Given the description of an element on the screen output the (x, y) to click on. 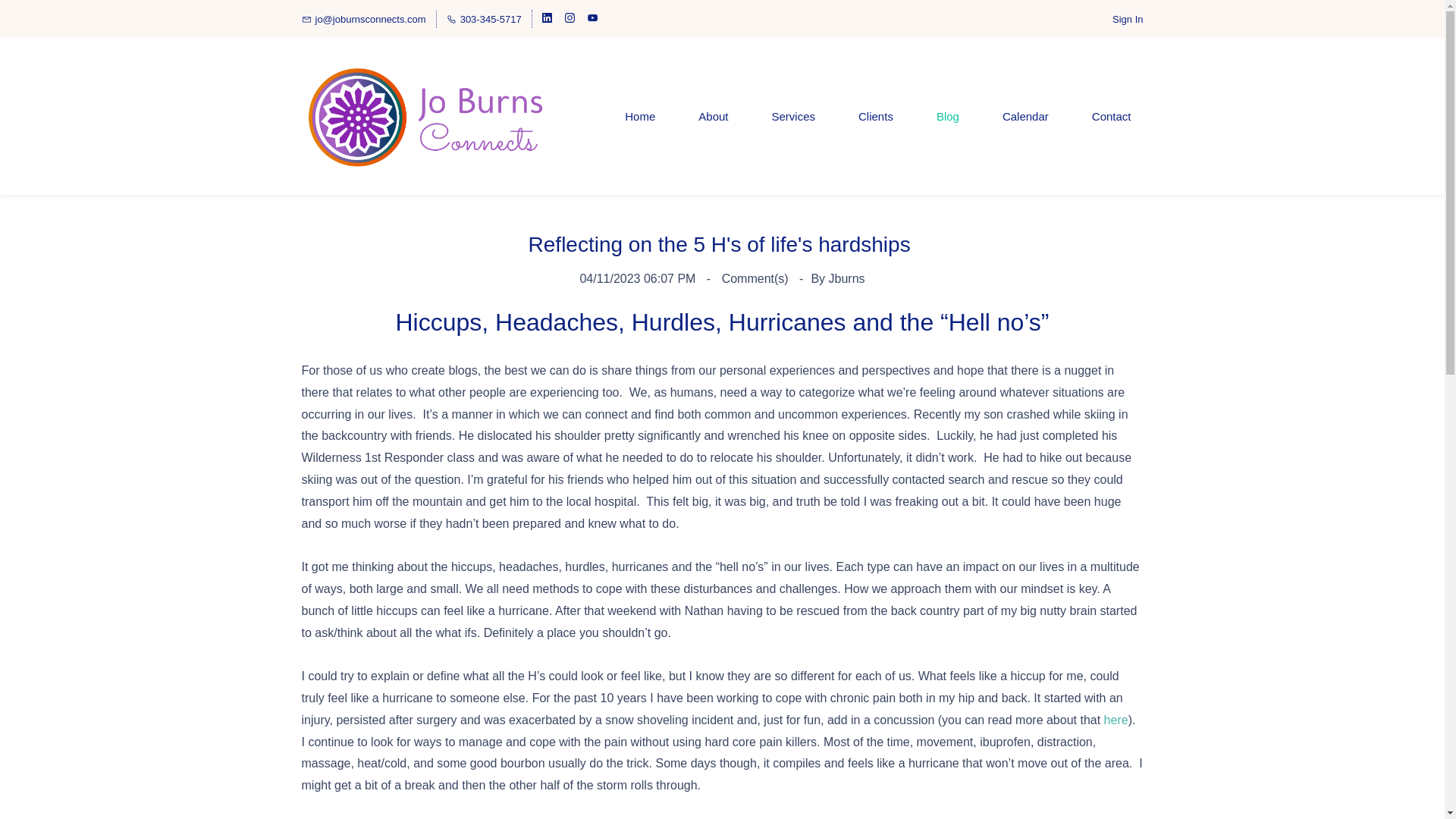
Sign In (1127, 18)
here (1115, 719)
Clients (875, 115)
Contact (1111, 115)
Services (794, 115)
Blog (947, 115)
Calendar (1025, 115)
Home (639, 115)
About (712, 115)
Clients (875, 115)
